Given the description of an element on the screen output the (x, y) to click on. 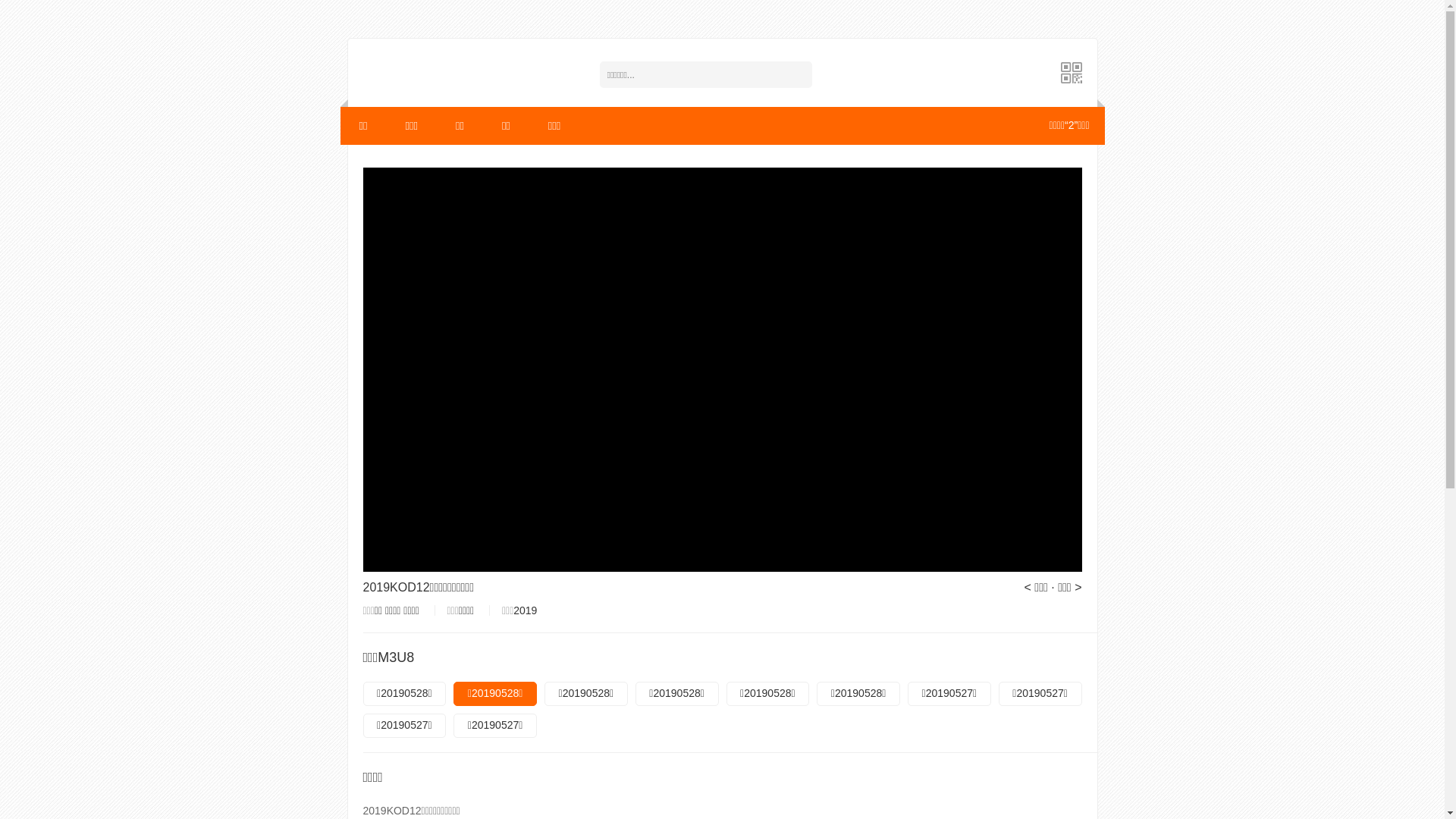
2019 Element type: text (524, 610)
